Given the description of an element on the screen output the (x, y) to click on. 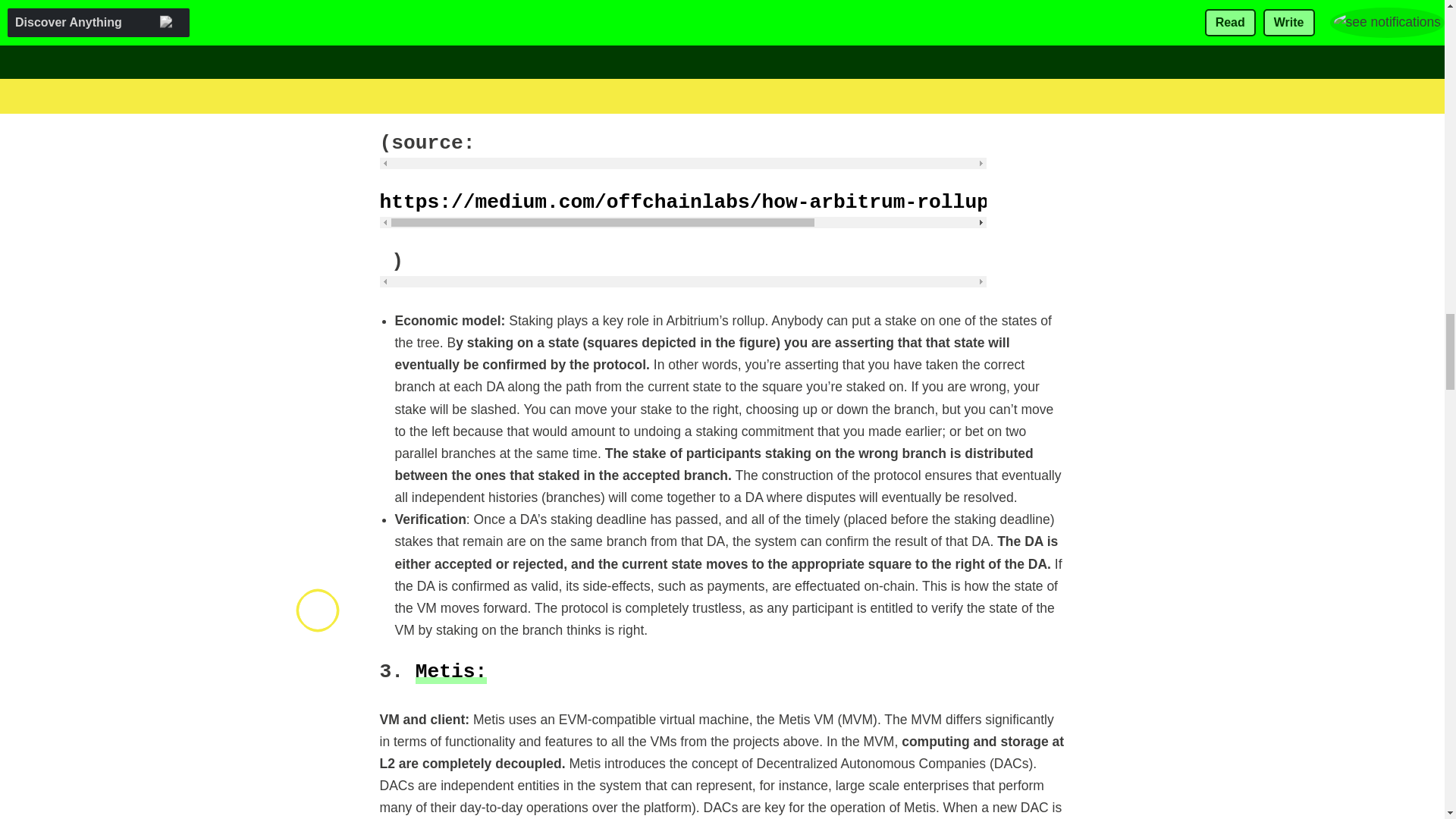
Metis: (450, 671)
